Given the description of an element on the screen output the (x, y) to click on. 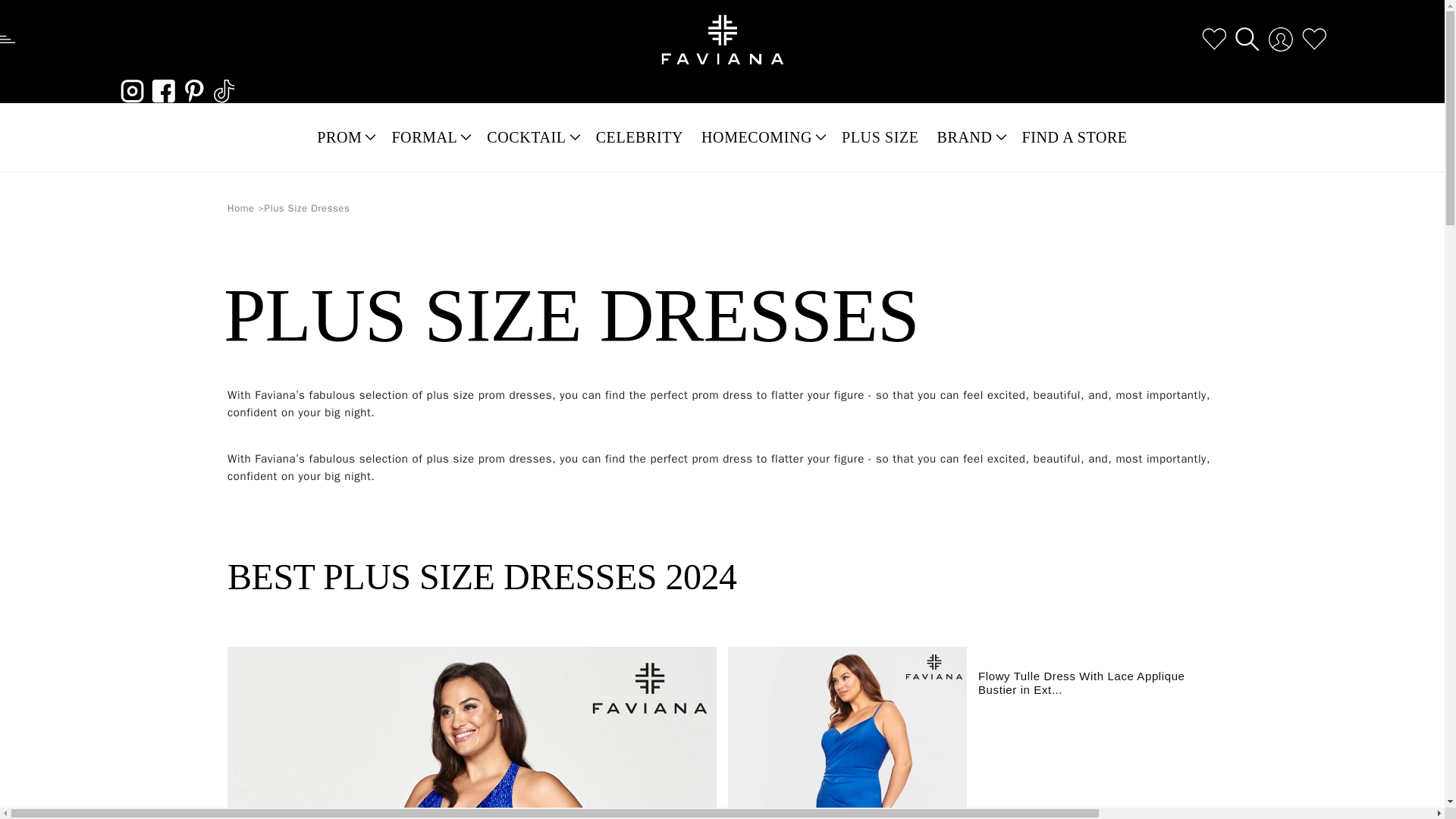
Skip to content (45, 16)
Plus Size Long Dress With V Neck And Shirring Detail Waist (847, 733)
Plus Size Halter Neck Prom Dress Long With Beading (471, 733)
